Given the description of an element on the screen output the (x, y) to click on. 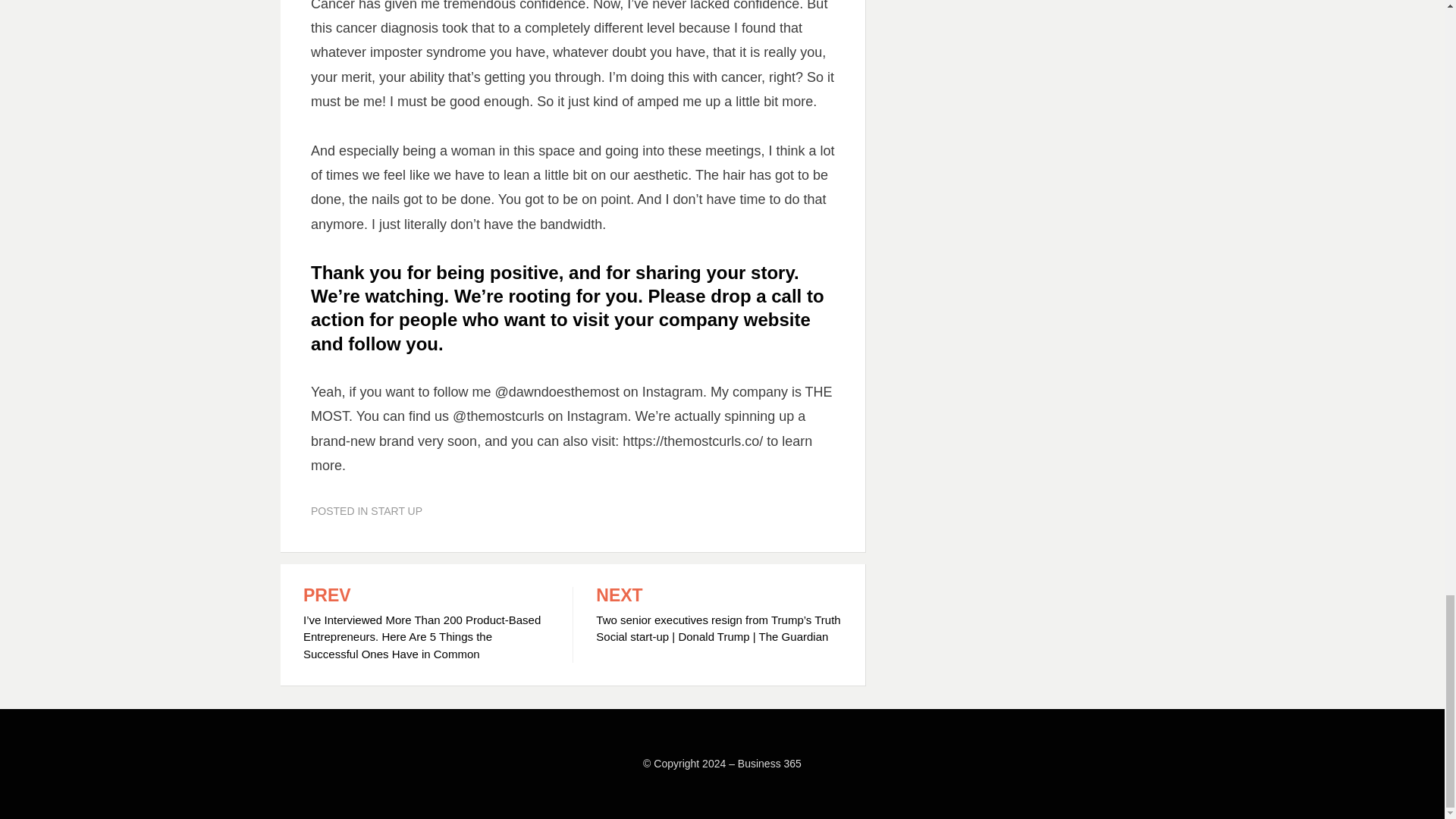
Business 365 (770, 763)
START UP (396, 510)
SimpleFreeThemes (388, 784)
WordPress (508, 784)
SimpleFreeThemes (388, 784)
WordPress (508, 784)
